Given the description of an element on the screen output the (x, y) to click on. 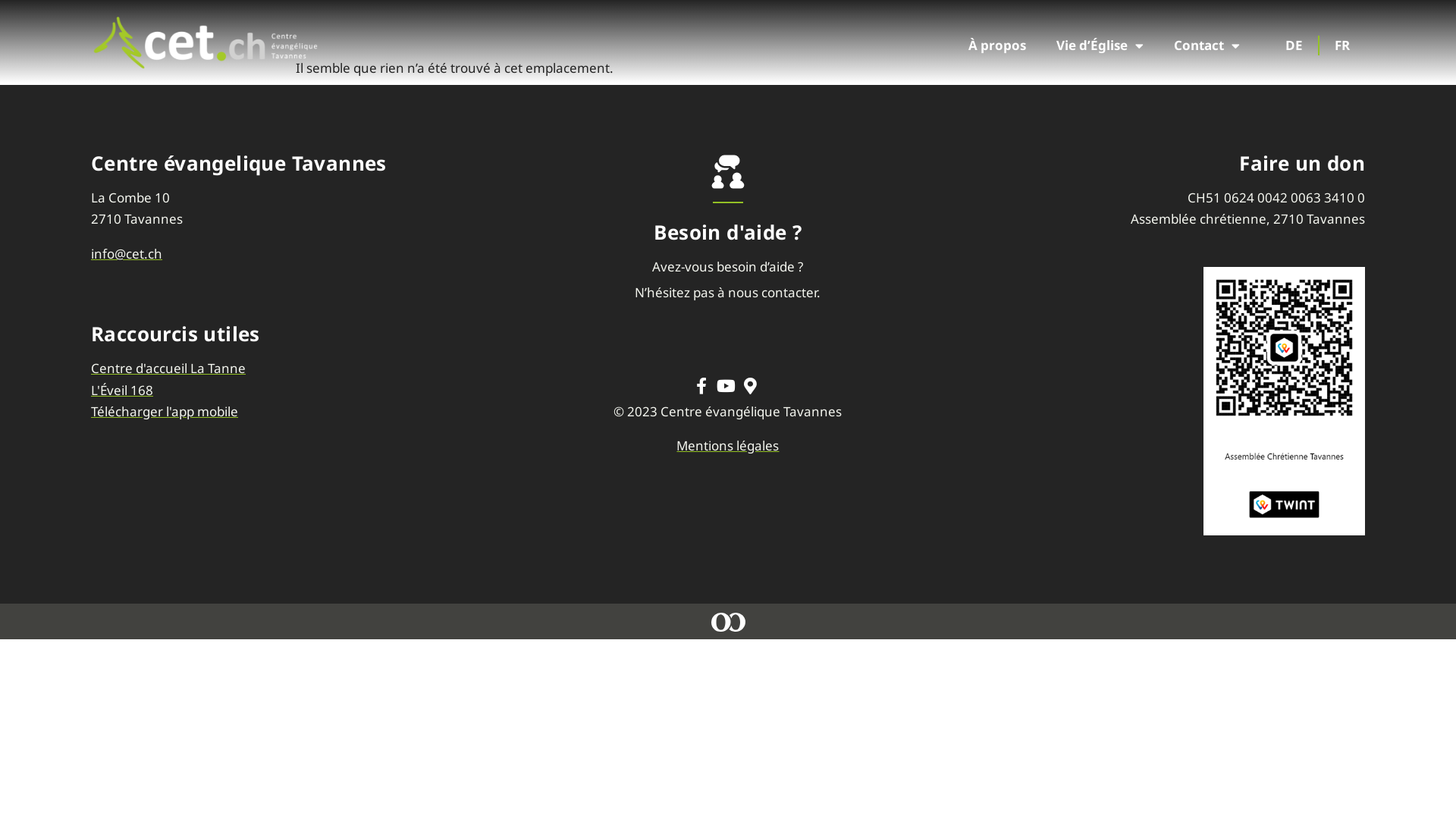
Besoin d'aide ? Element type: text (727, 231)
Centre d'accueil La Tanne Element type: text (298, 368)
DE Element type: text (1294, 45)
Contact Element type: text (1206, 45)
FR Element type: text (1342, 45)
info@cet.ch Element type: text (298, 253)
